Given the description of an element on the screen output the (x, y) to click on. 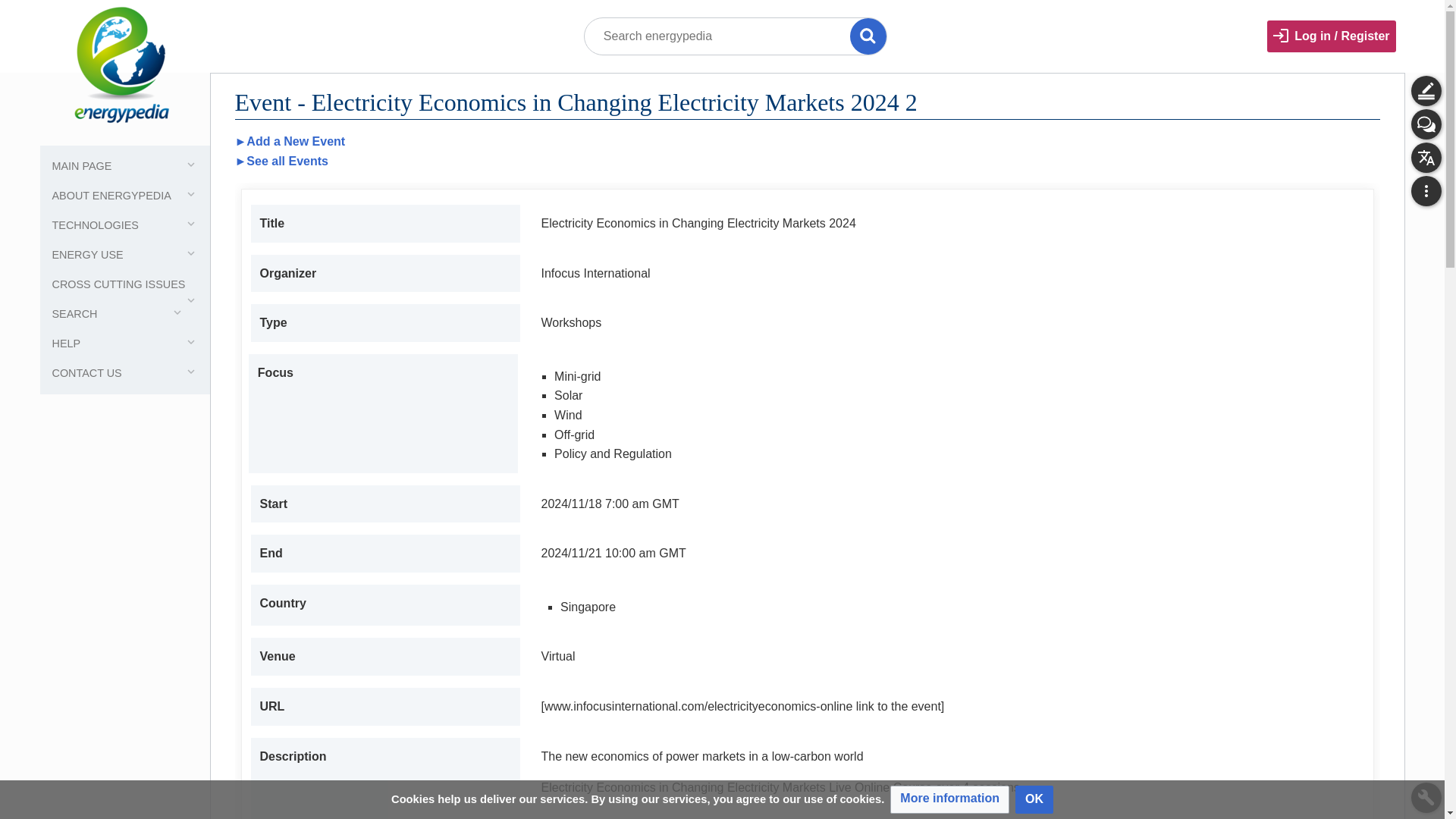
OK (1033, 799)
Title (868, 36)
Full text (18, 18)
Title (868, 36)
Go to a page with this exact name if it exists (868, 36)
Events (281, 160)
More information (949, 799)
Title (868, 36)
